Given the description of an element on the screen output the (x, y) to click on. 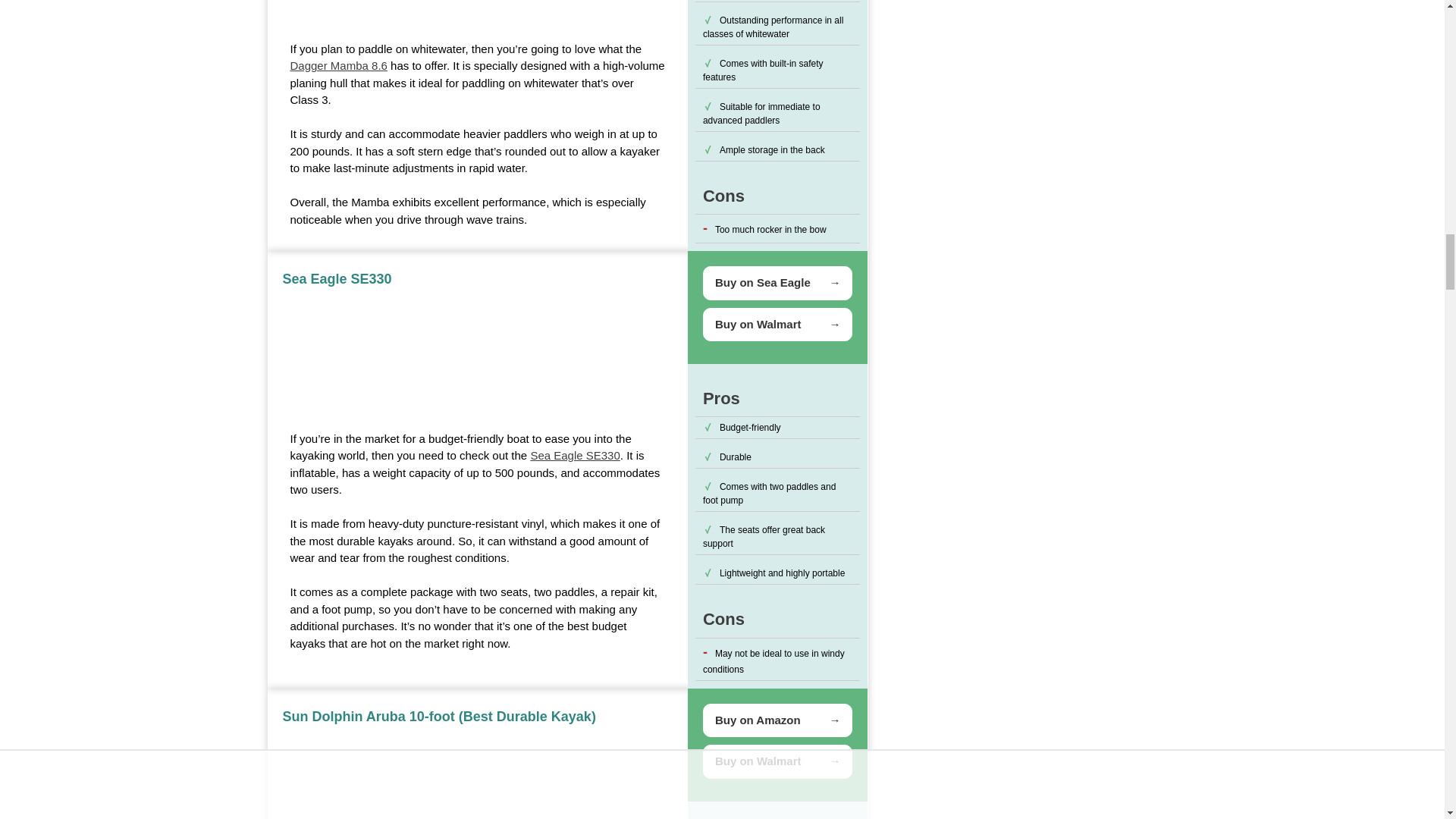
Dagger Mamba 8.6 (338, 65)
Sea Eagle SE330 (574, 454)
